Given the description of an element on the screen output the (x, y) to click on. 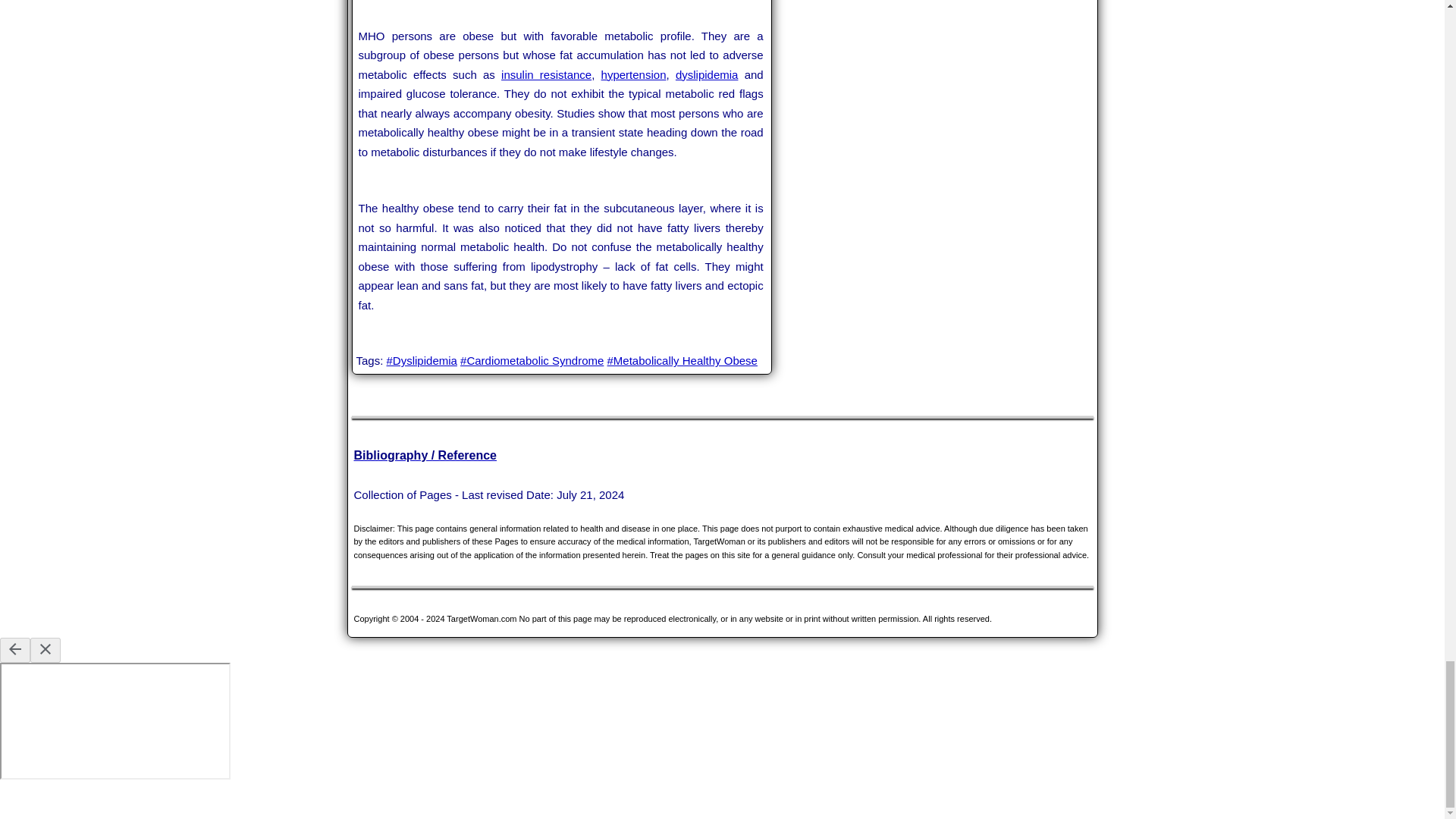
hypertension (633, 74)
dyslipidemia (706, 74)
insulin resistance (545, 74)
